Given the description of an element on the screen output the (x, y) to click on. 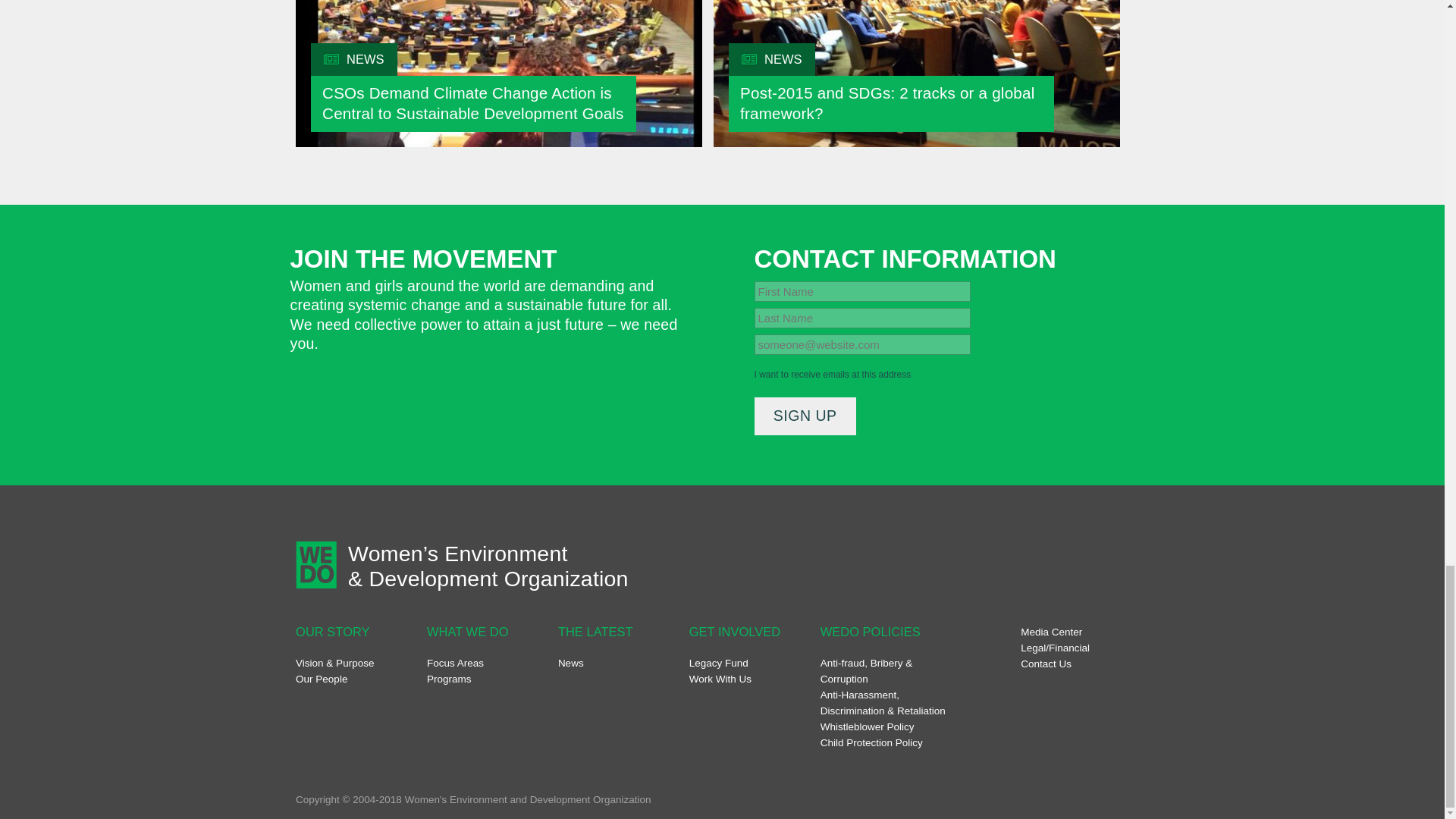
Sign up (805, 416)
